Given the description of an element on the screen output the (x, y) to click on. 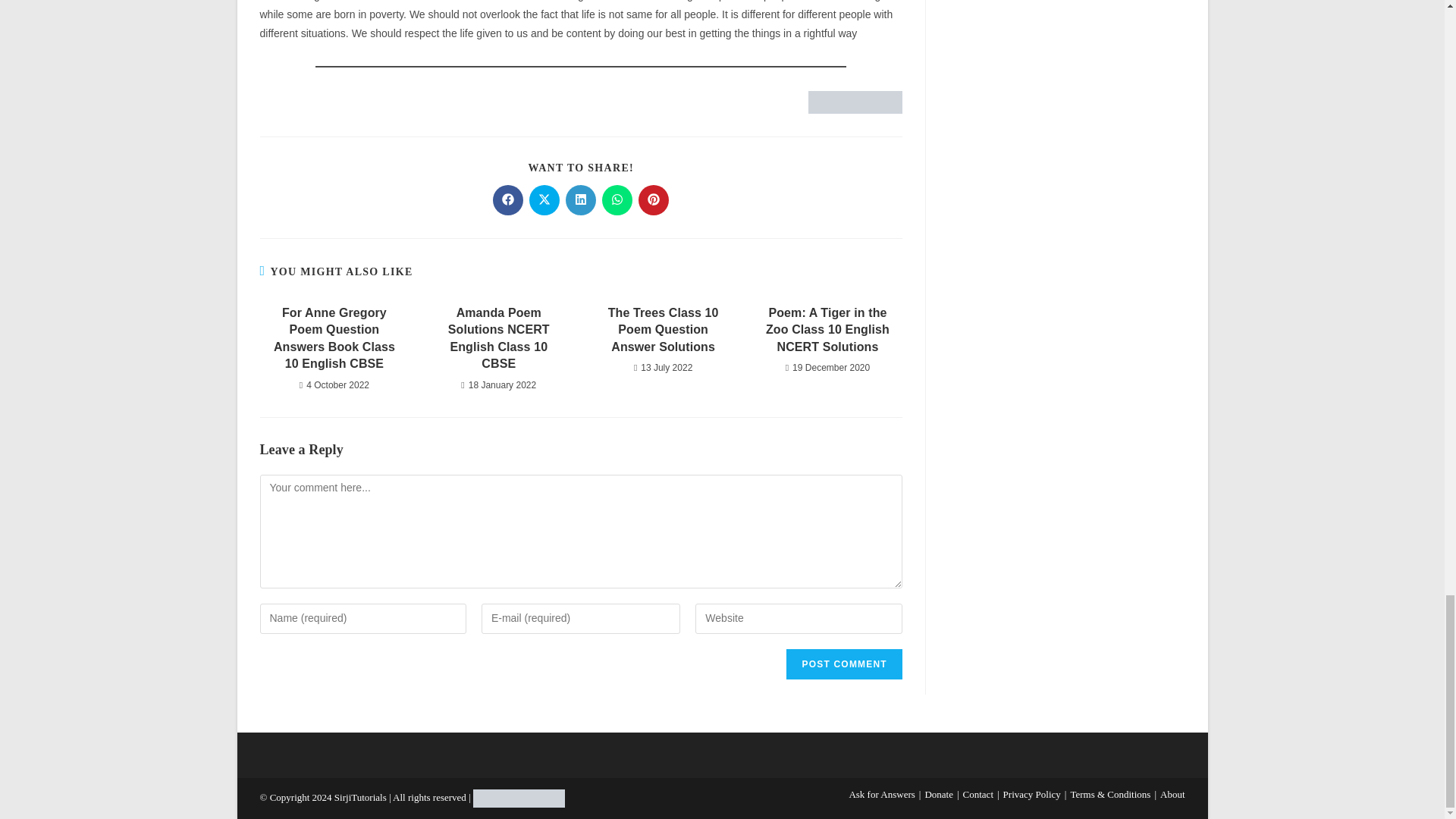
Post Comment (843, 664)
DMCA.com Protection Status (518, 797)
